Given the description of an element on the screen output the (x, y) to click on. 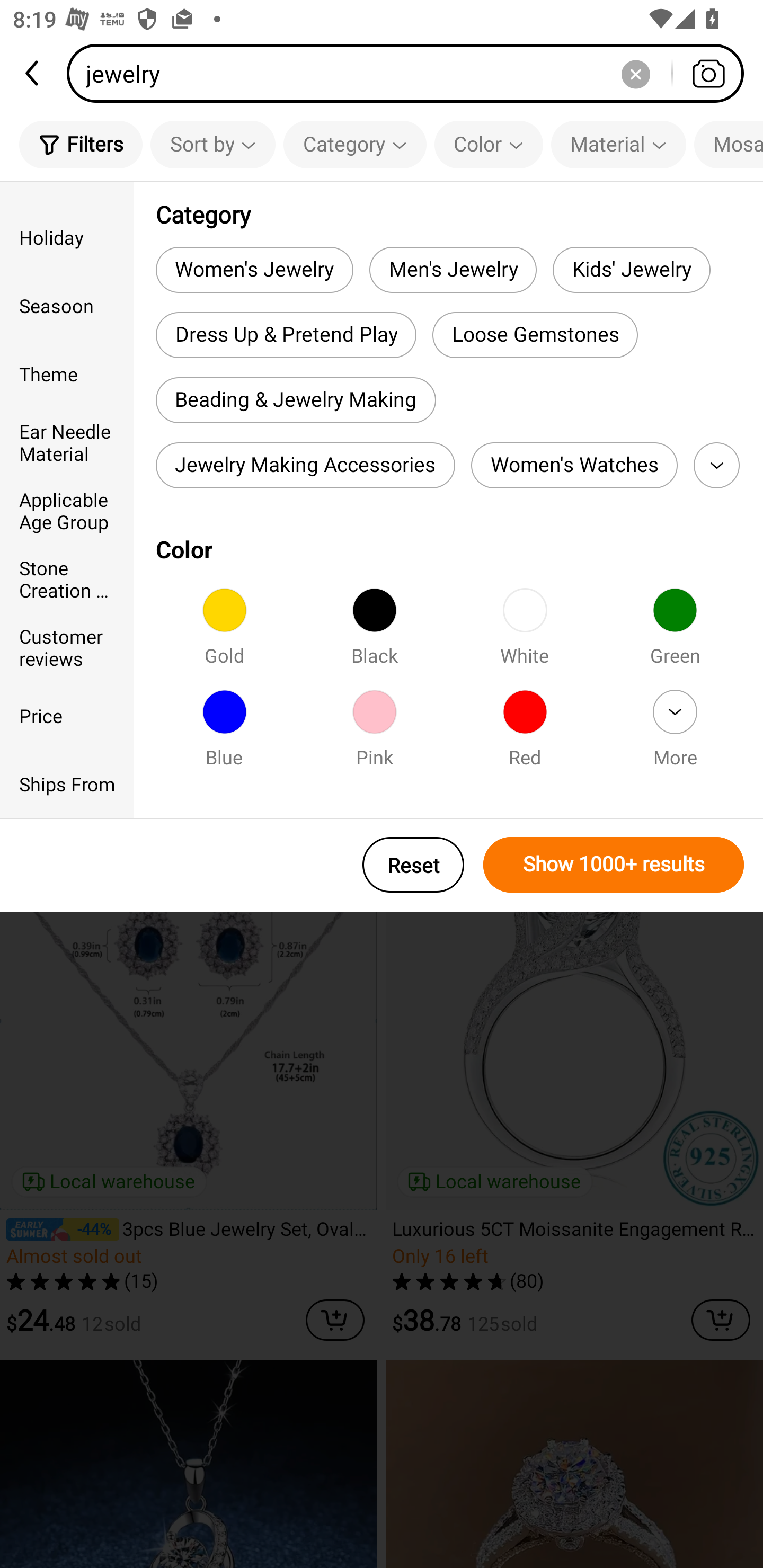
back (33, 72)
jewelry (411, 73)
Delete search history (635, 73)
Search by photo (708, 73)
Filters (80, 143)
Sort by (212, 143)
Category (354, 143)
Color (488, 143)
Material (617, 143)
Mosaic Material (728, 143)
Holiday (66, 236)
Women's Jewelry (254, 269)
Men's Jewelry (452, 269)
Kids' Jewelry (631, 269)
Seasoon (66, 305)
Dress Up & Pretend Play (285, 334)
Loose Gemstones (534, 334)
Theme (66, 373)
Beading & Jewelry Making (295, 400)
Ear Needle Material (66, 441)
